Given the description of an element on the screen output the (x, y) to click on. 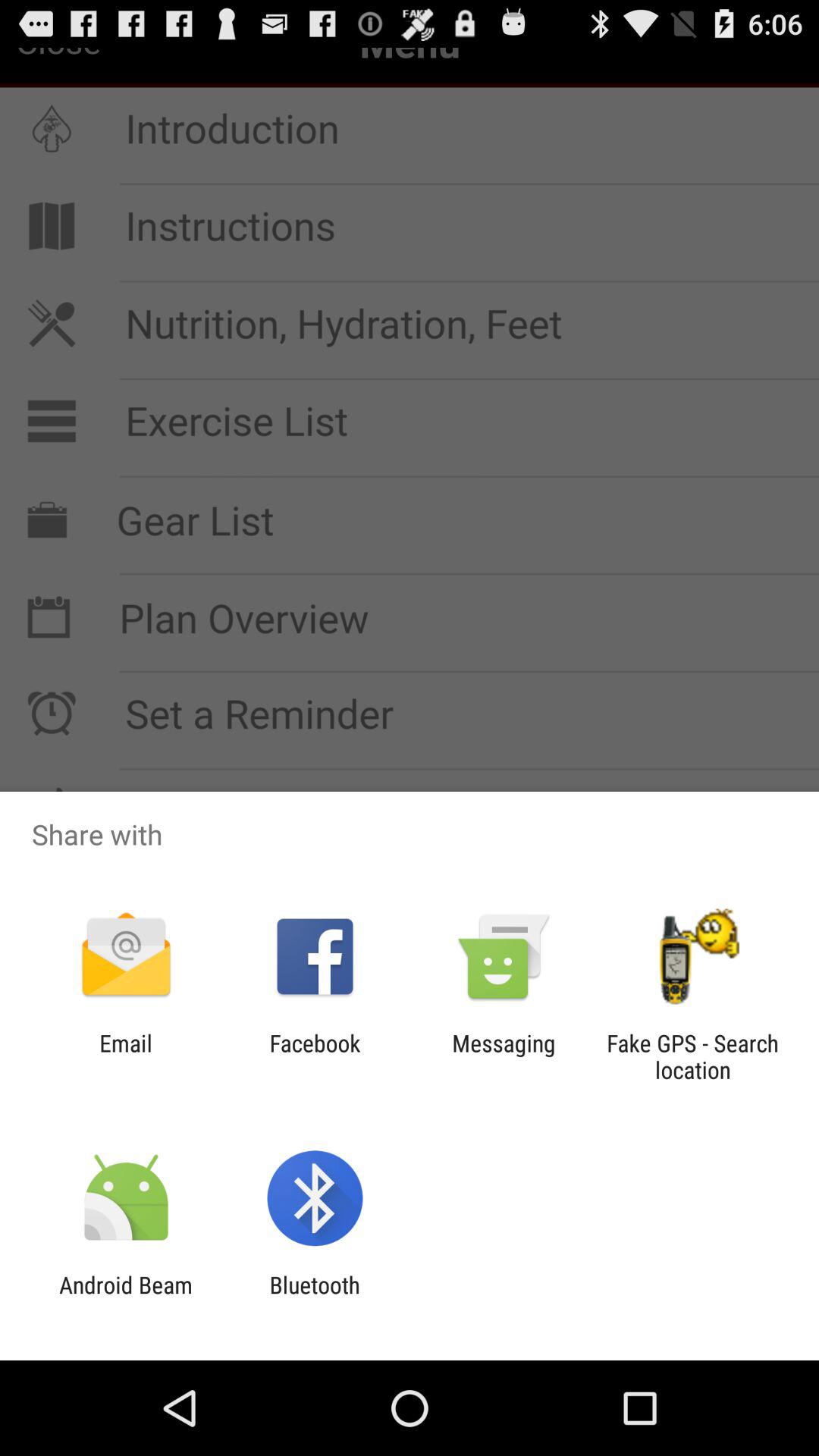
click the app to the left of bluetooth icon (125, 1298)
